Given the description of an element on the screen output the (x, y) to click on. 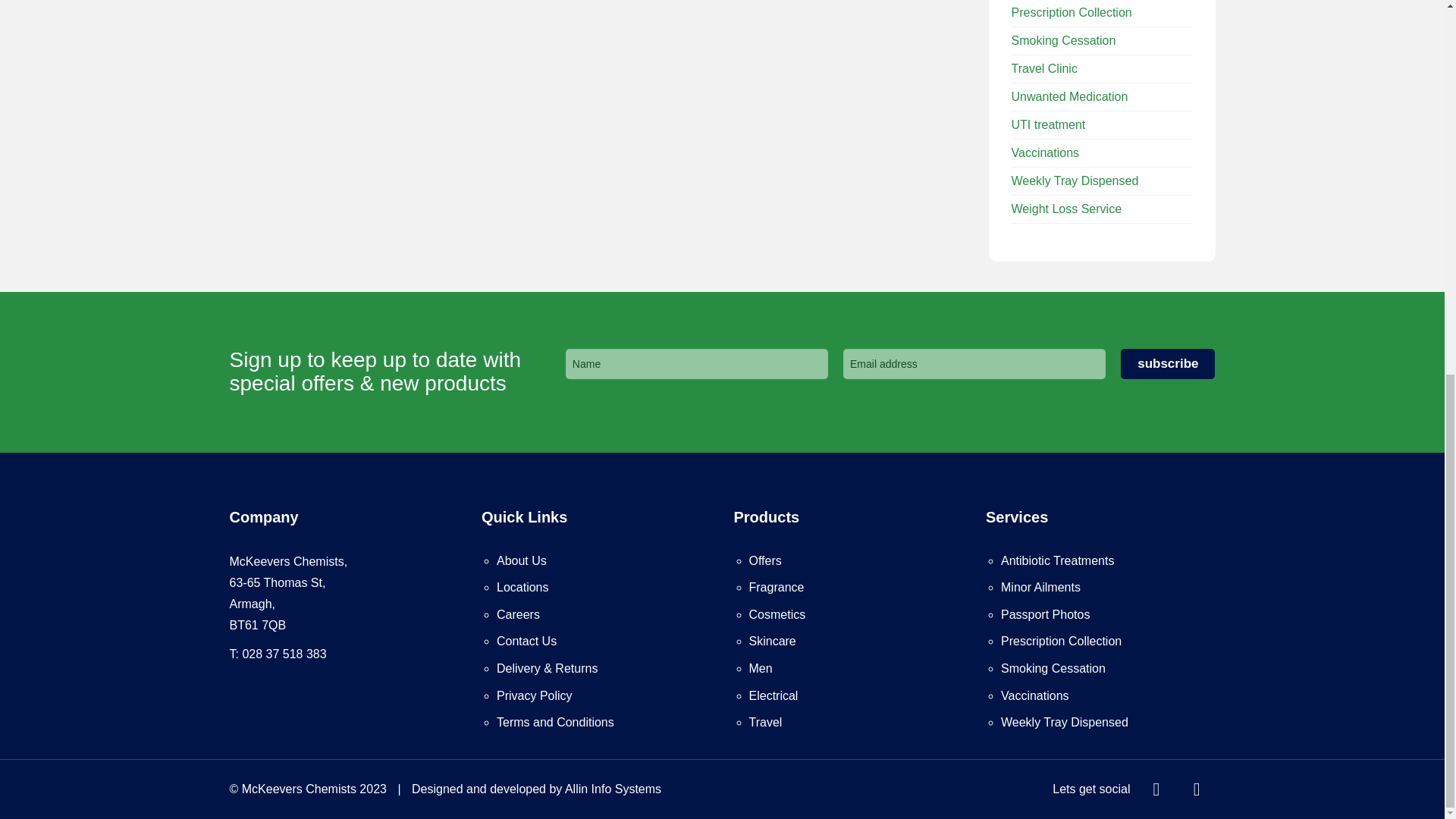
Subscribe (1167, 363)
